Given the description of an element on the screen output the (x, y) to click on. 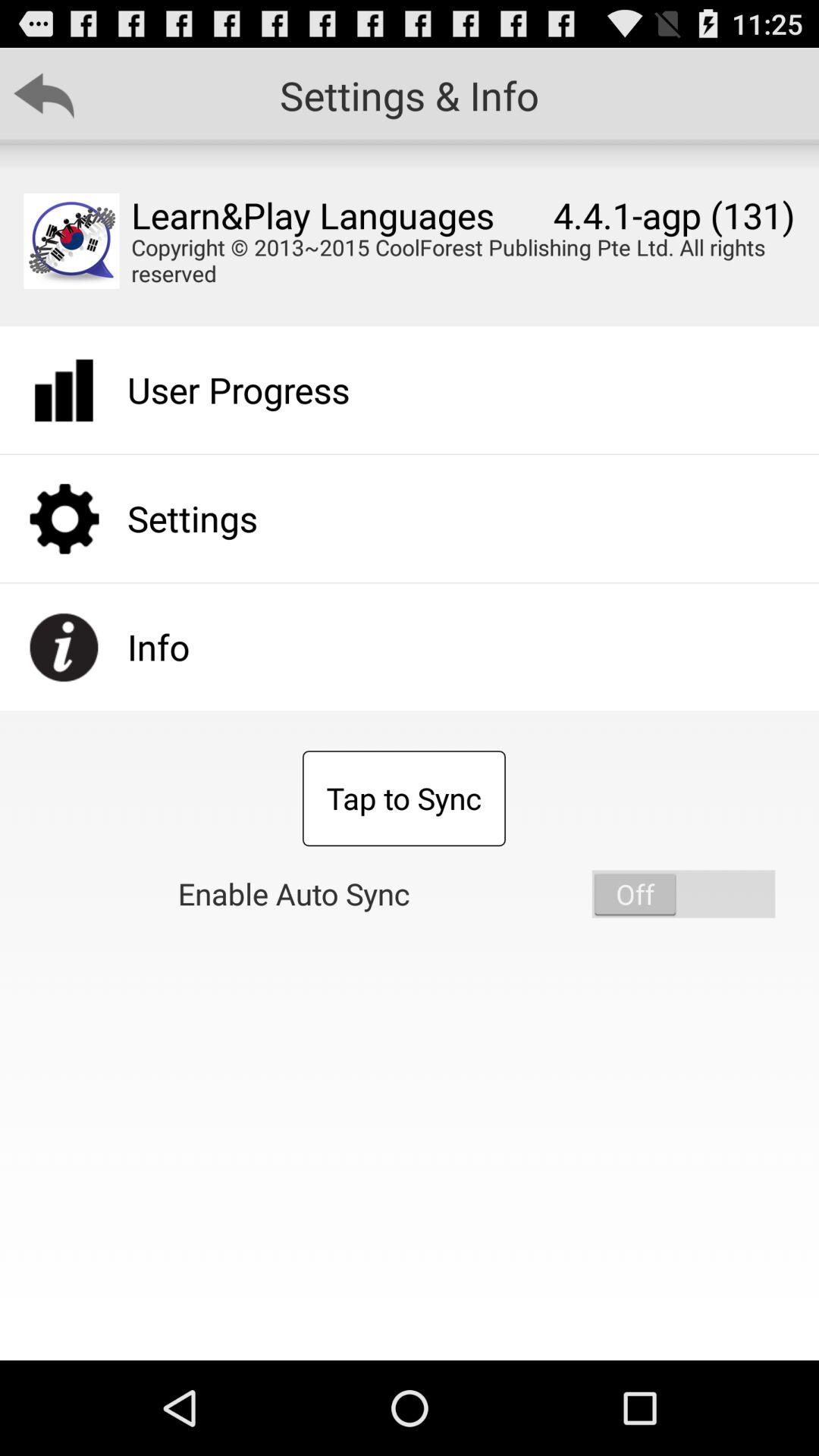
turn off the tap to sync item (403, 798)
